Given the description of an element on the screen output the (x, y) to click on. 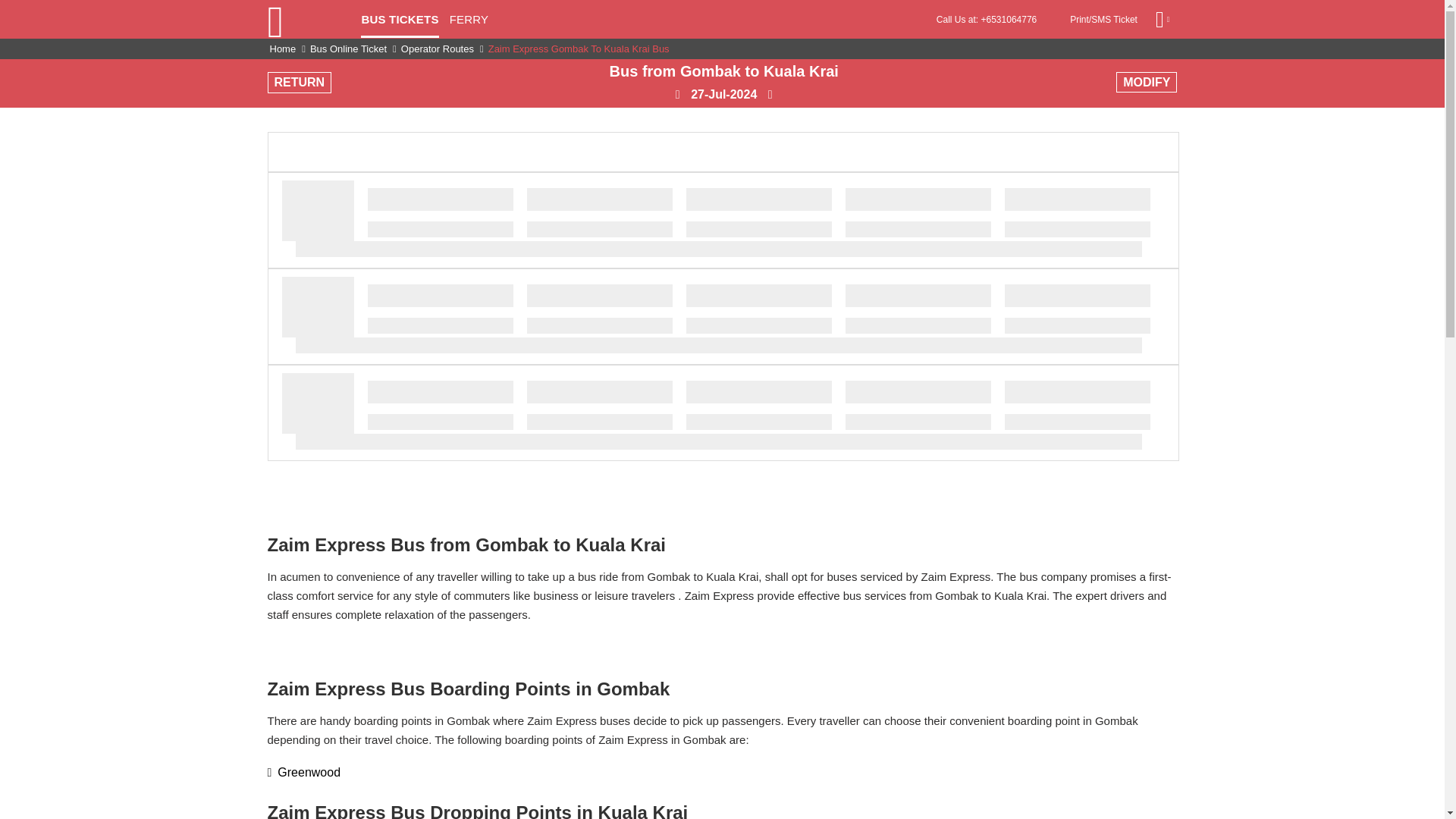
Operator Routes (437, 48)
FERRY (469, 23)
Home (282, 48)
Bus Online Ticket (348, 48)
BUS TICKETS (399, 24)
